Given the description of an element on the screen output the (x, y) to click on. 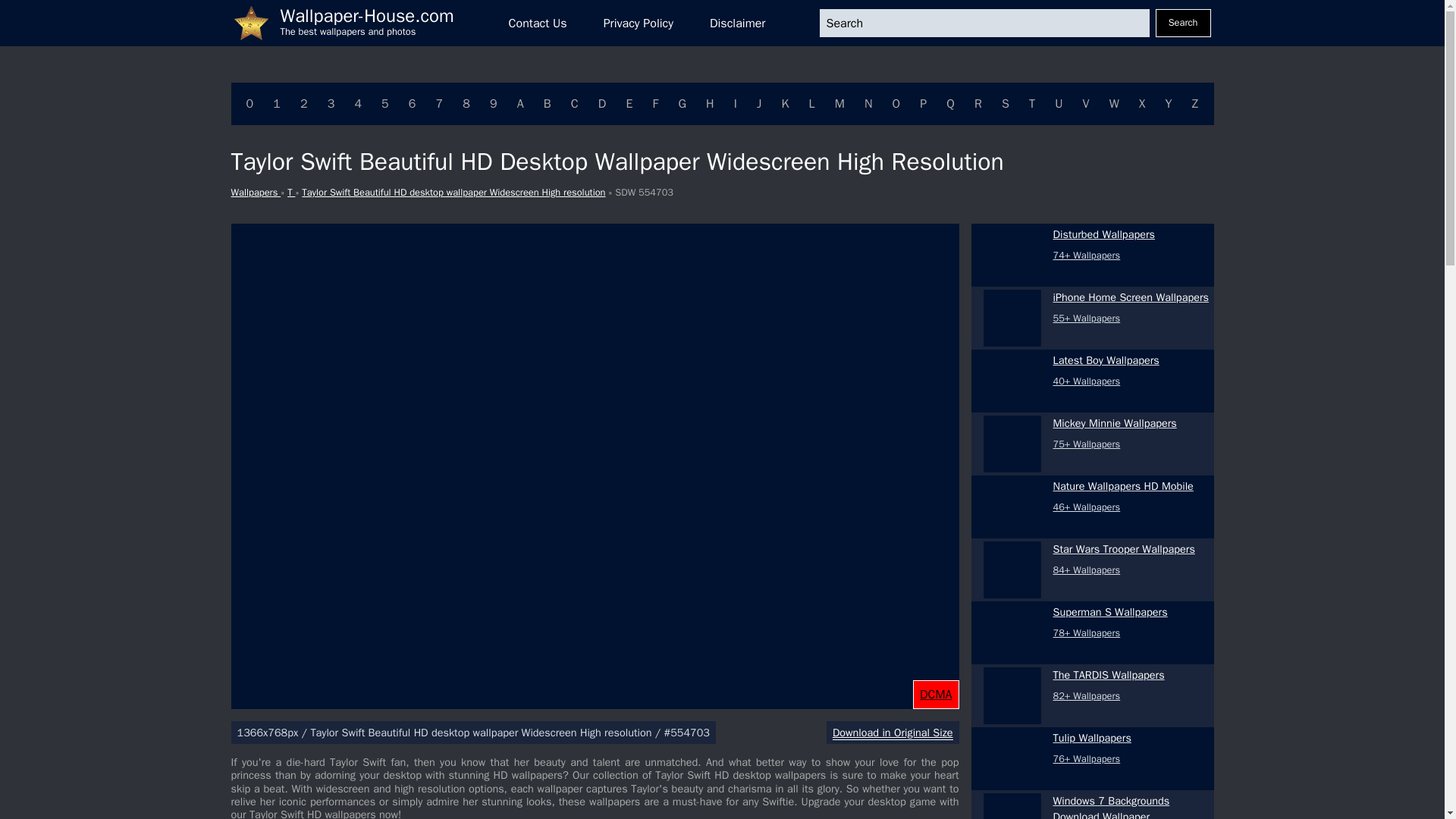
Privacy Policy (638, 22)
0 (249, 104)
T (1032, 104)
Tulip Wallpapers (1011, 758)
S (1004, 104)
4 (357, 104)
L (812, 104)
P (923, 104)
D (602, 104)
Latest Boy Wallpapers (1011, 380)
9 (493, 104)
W (1114, 104)
O (896, 104)
V (1086, 104)
Contact Us (537, 22)
